Given the description of an element on the screen output the (x, y) to click on. 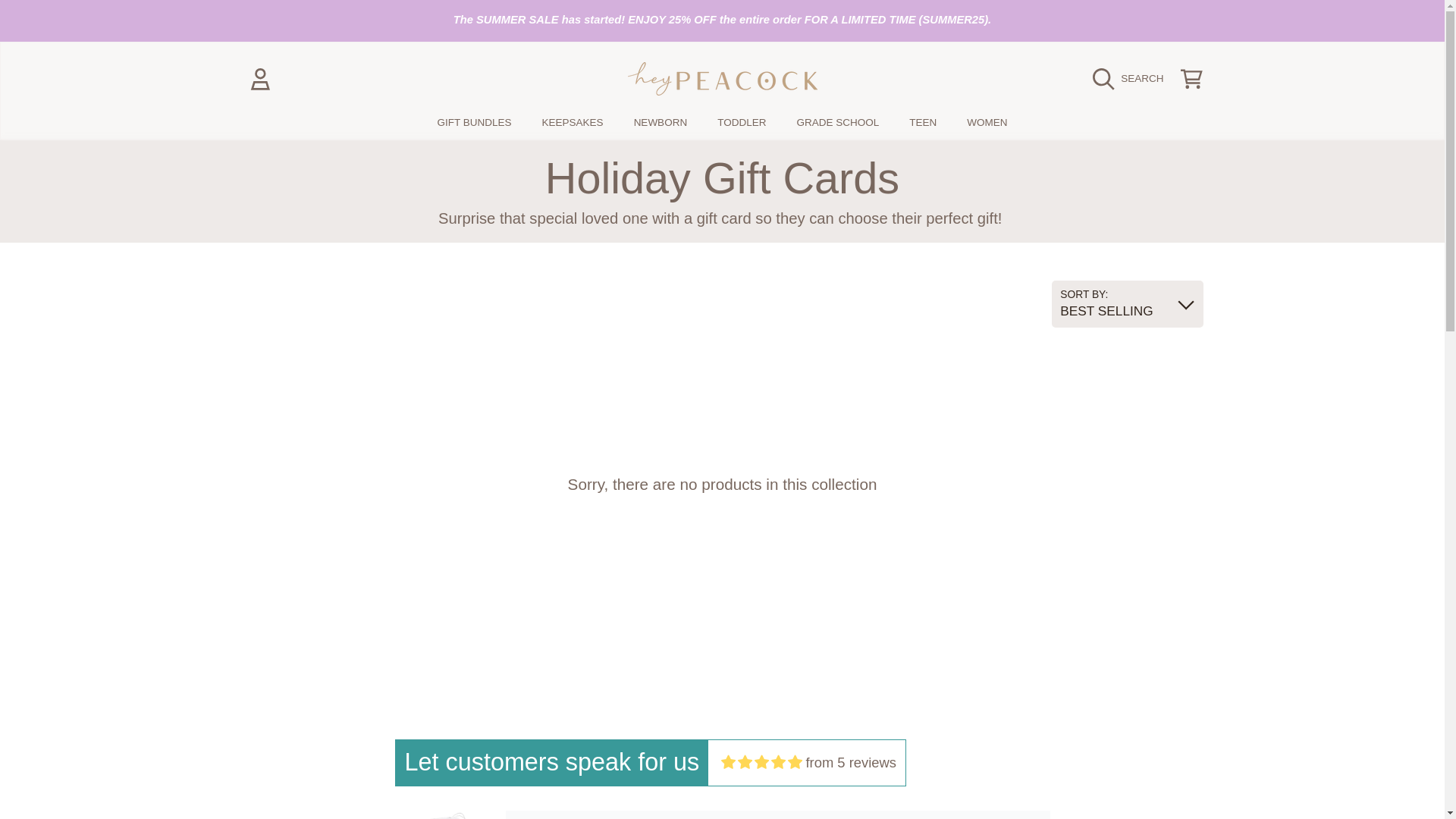
GRADE SCHOOL (836, 122)
TODDLER (740, 122)
Cart (1191, 78)
TEEN (922, 122)
NEWBORN (660, 122)
KEEPSAKES (572, 122)
GIFT BUNDLES (474, 122)
SKIP TO CONTENT (108, 21)
Login (260, 78)
